Given the description of an element on the screen output the (x, y) to click on. 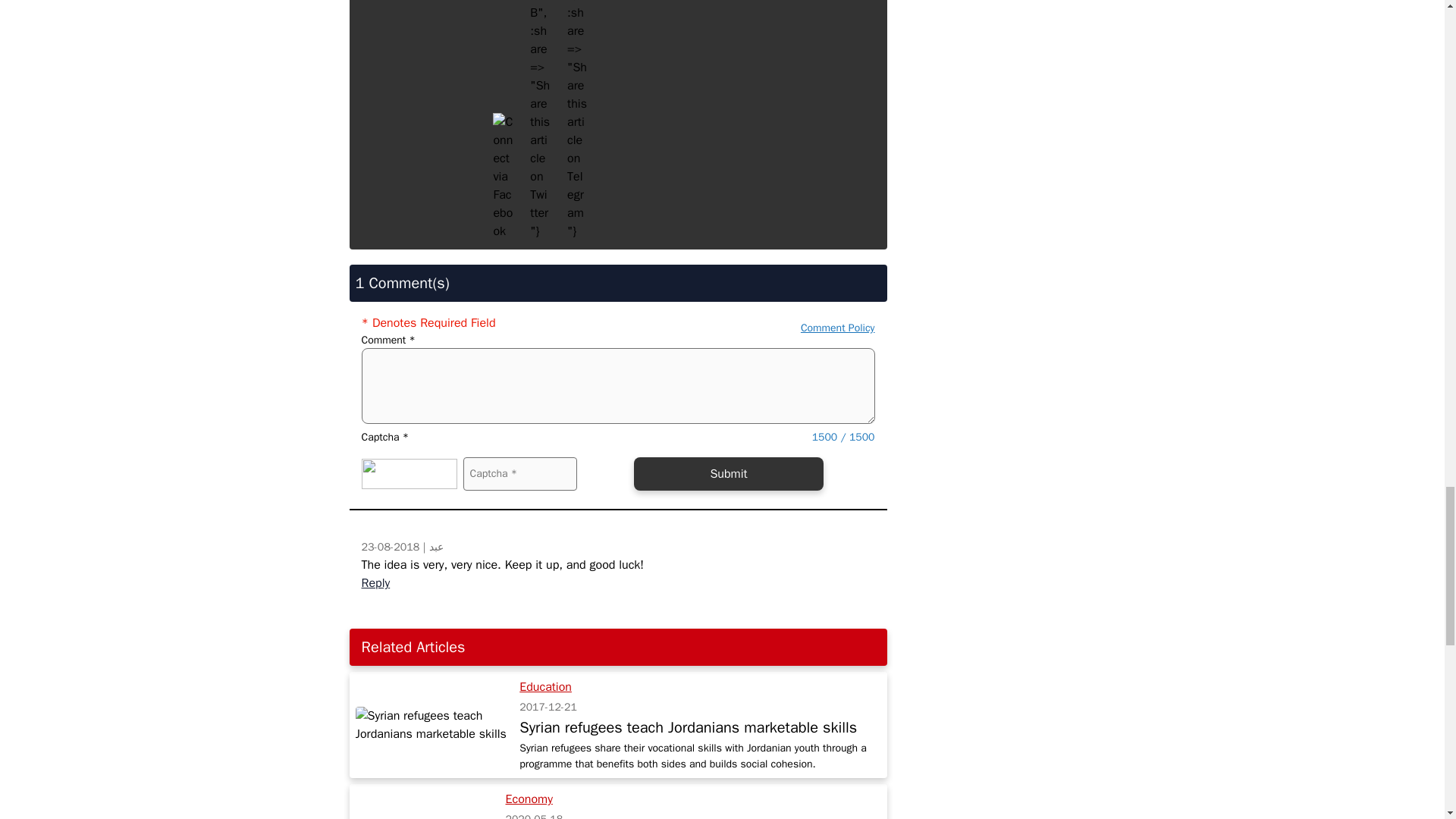
Economy (529, 798)
Education (545, 686)
Reply (377, 590)
